Given the description of an element on the screen output the (x, y) to click on. 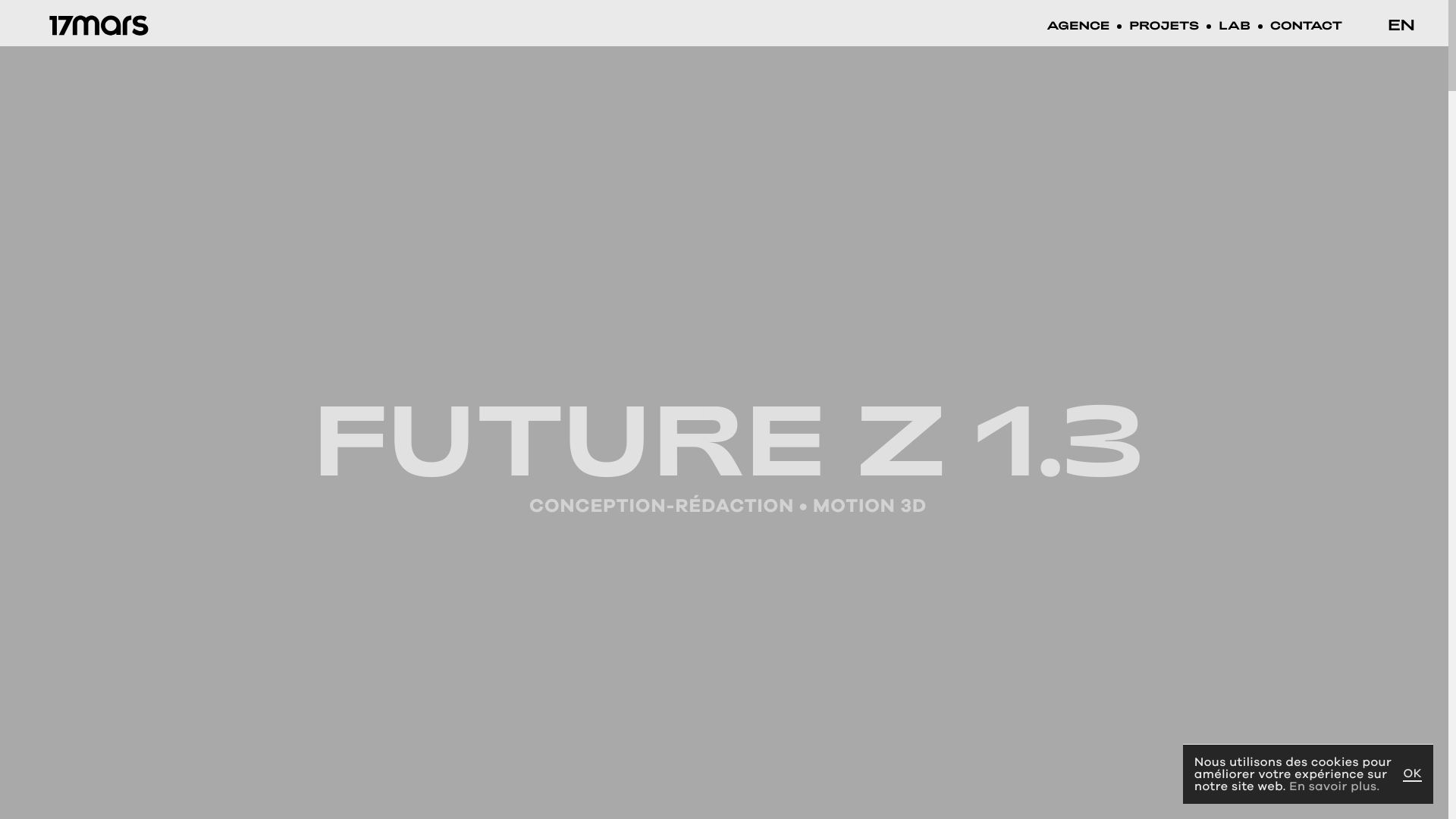
En savoir plus. Element type: text (1334, 785)
AGENCE Element type: text (1077, 26)
OK Element type: text (1411, 774)
EN Element type: text (1401, 24)
LAB Element type: text (1234, 26)
CONTACT Element type: text (1305, 26)
PROJETS Element type: text (1163, 26)
